Given the description of an element on the screen output the (x, y) to click on. 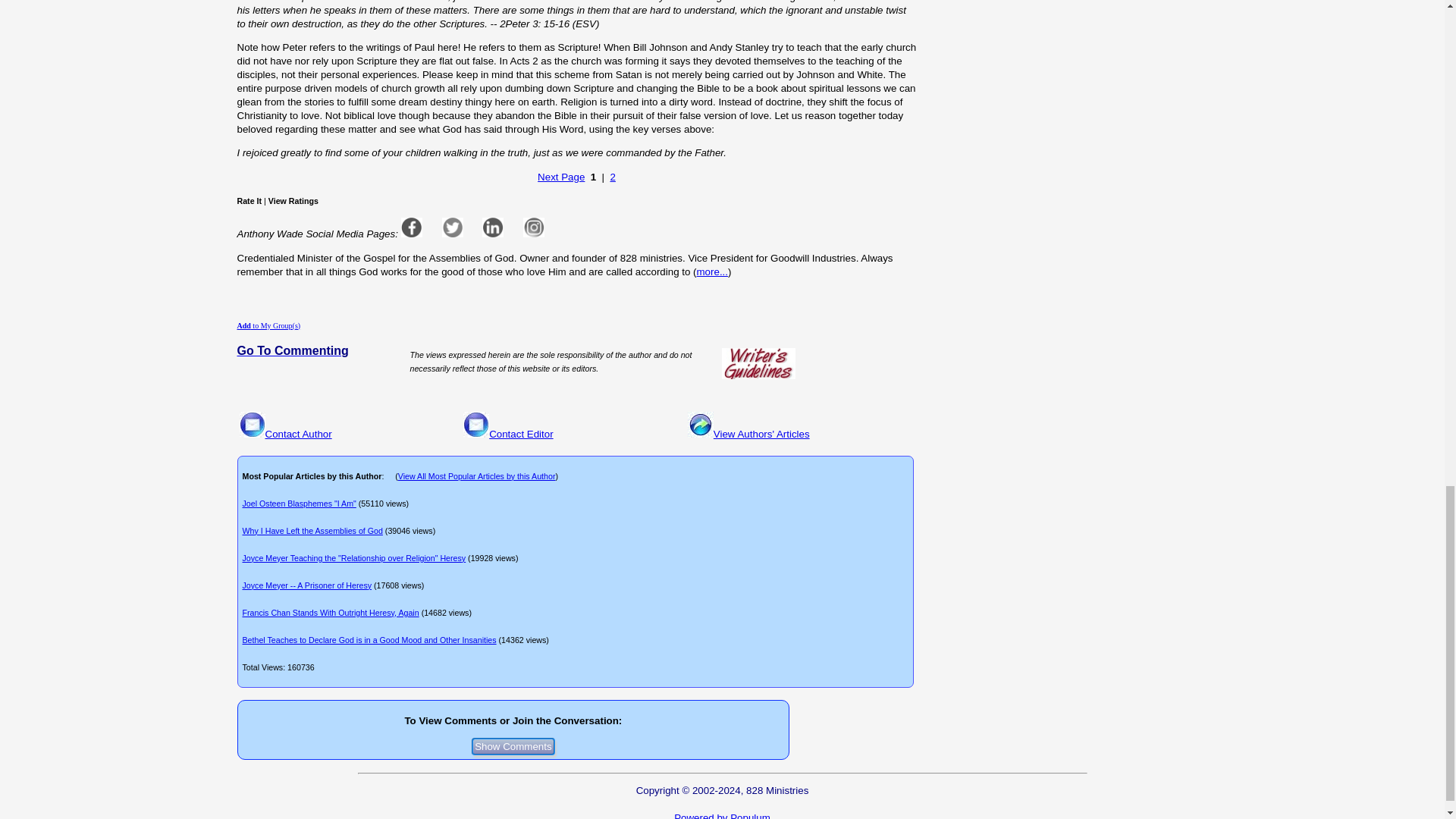
Twitter page url on login Profile not filled in (452, 227)
View All Most Popular Articles by this Author (476, 475)
Joyce Meyer -- A Prisoner of Heresy (307, 584)
Show Comments (512, 746)
Facebook page url on login Profile not filled in (411, 227)
more... (712, 271)
Linkedin page url on login Profile not filled in (492, 227)
View Ratings (292, 200)
Next Page (561, 176)
Joel Osteen Blasphemes "I Am" (299, 502)
Go To Commenting (291, 351)
Joyce Meyer Teaching the "Relationship over Religion" Heresy (354, 557)
View Authors' Articles (761, 433)
Francis Chan Stands With Outright Heresy, Again (331, 612)
Rate It (248, 200)
